Given the description of an element on the screen output the (x, y) to click on. 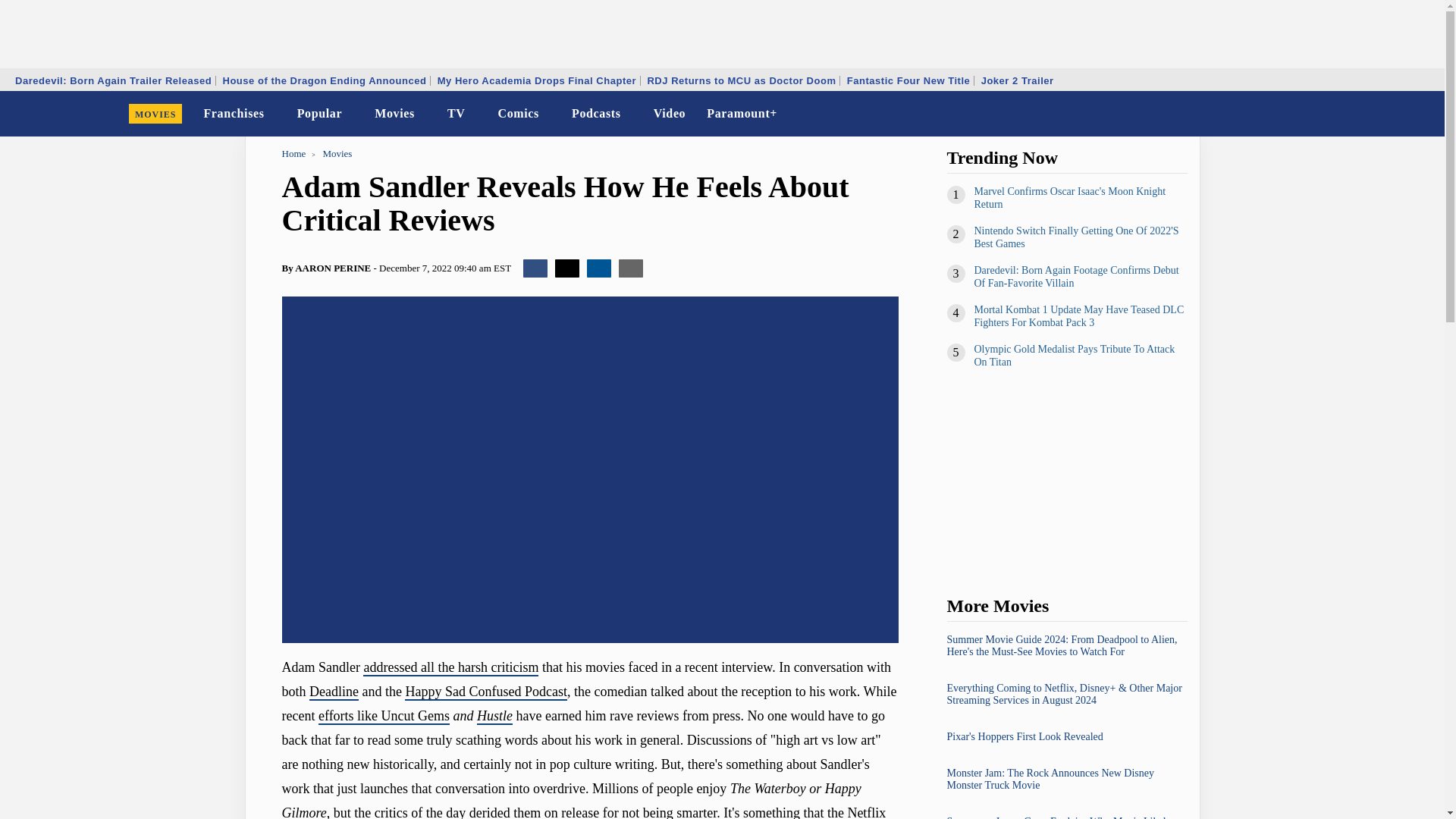
RDJ Returns to MCU as Doctor Doom (741, 80)
House of the Dragon Ending Announced (323, 80)
Popular (320, 113)
Search (1422, 114)
Dark Mode (1394, 113)
Daredevil: Born Again Trailer Released (113, 80)
MOVIES (155, 113)
Fantastic Four New Title (908, 80)
Movies (394, 113)
